Given the description of an element on the screen output the (x, y) to click on. 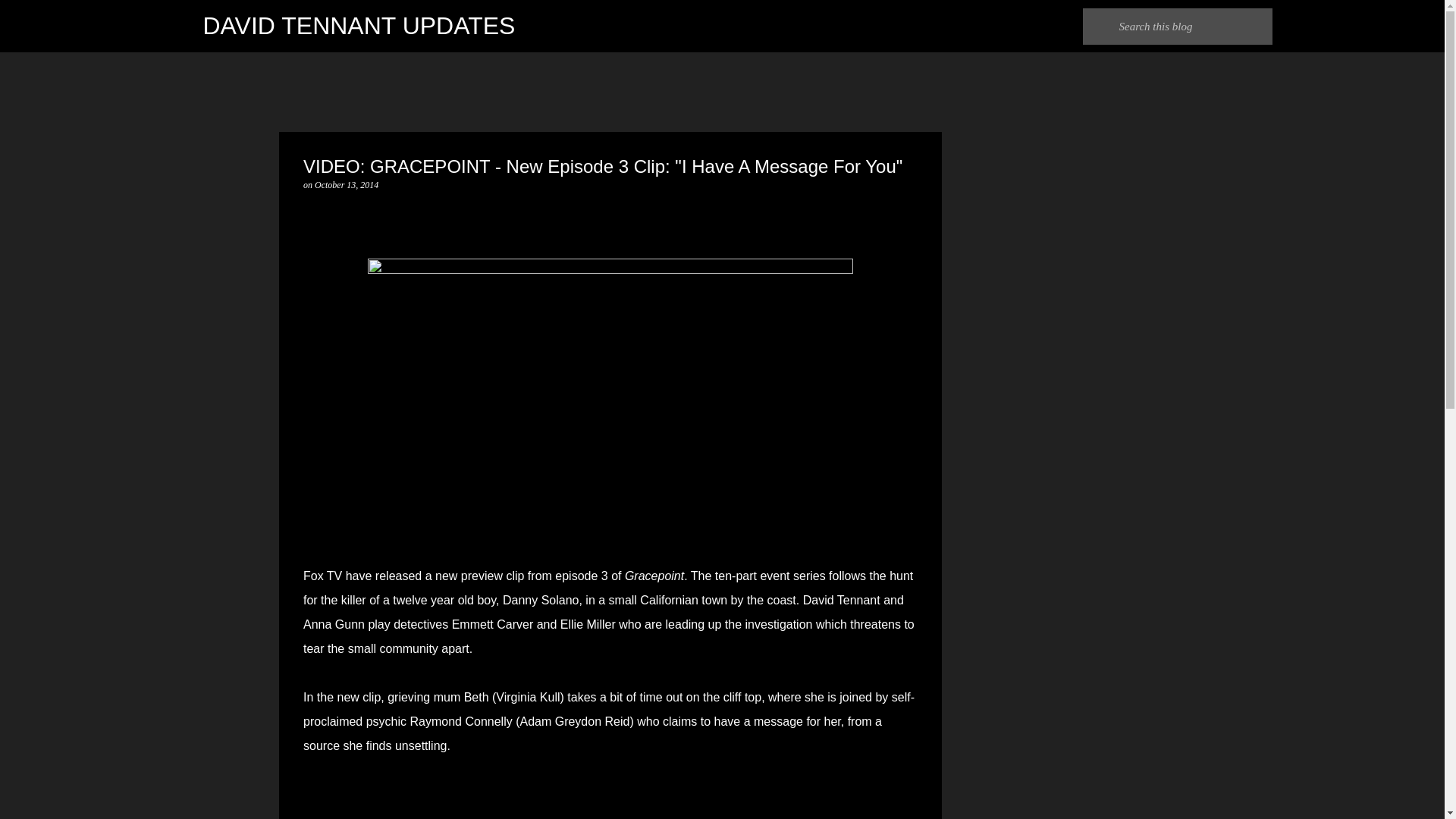
October 13, 2014 (346, 184)
DAVID TENNANT UPDATES (359, 25)
permanent link (346, 184)
